Given the description of an element on the screen output the (x, y) to click on. 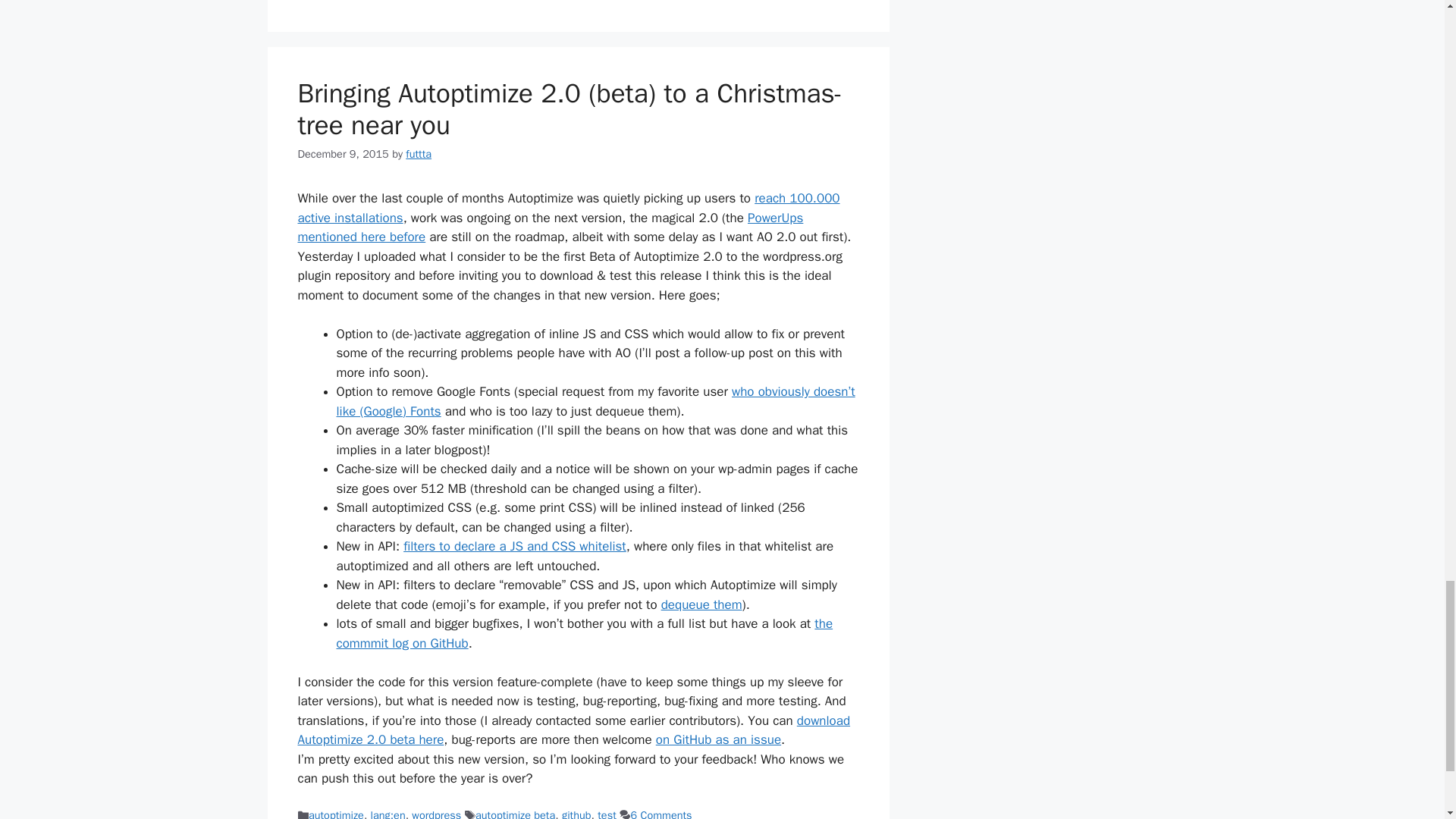
View all posts by futtta (418, 153)
